Given the description of an element on the screen output the (x, y) to click on. 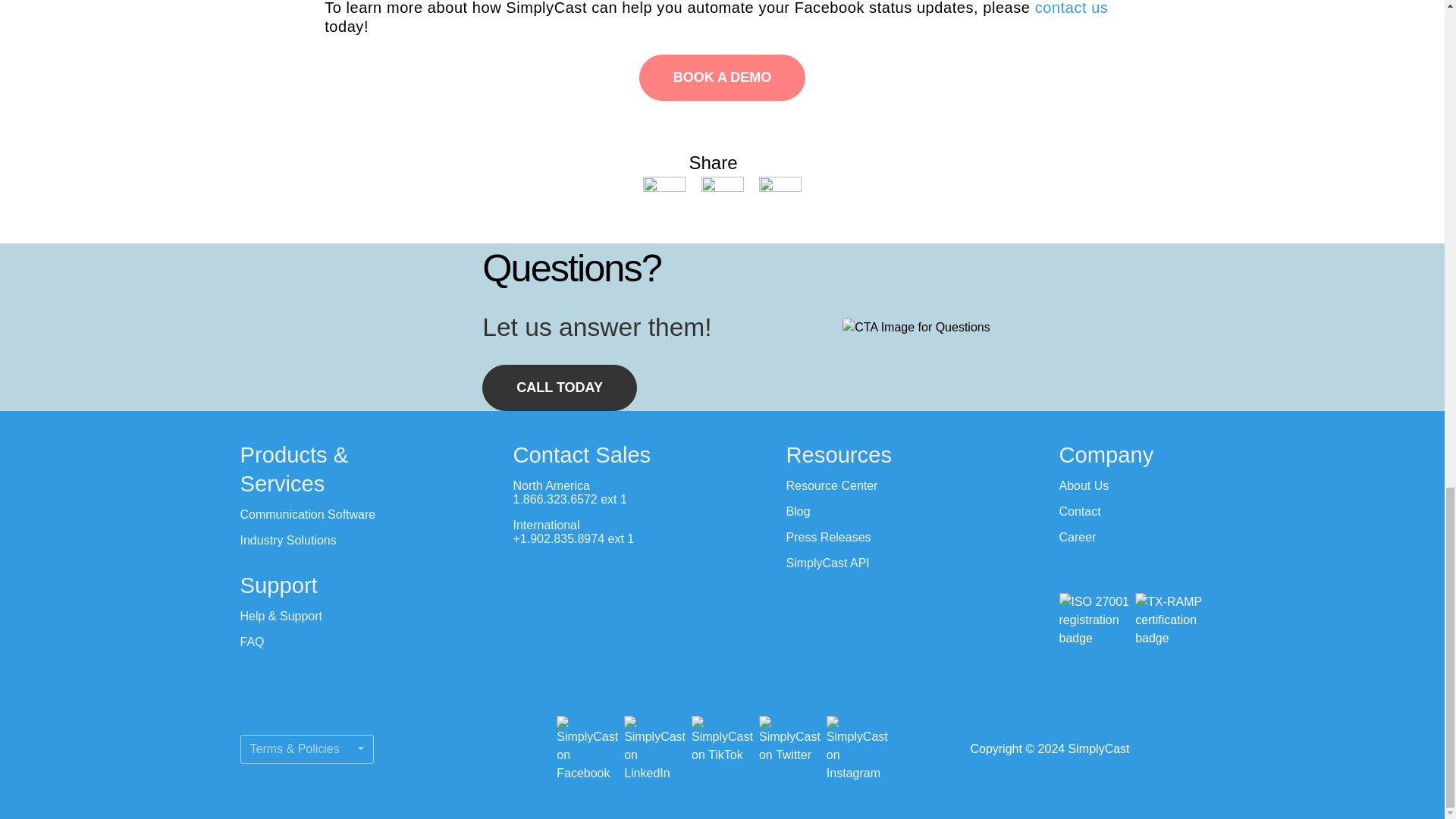
SimplyCast on TikTok (721, 748)
SimplyCast on Facebook (586, 748)
SimplyCast on Twitter (789, 748)
SimplyCast on LinkedIn (654, 748)
SimplyCast on Instagram (857, 748)
Facebook (665, 196)
LinkedIn (722, 196)
